Given the description of an element on the screen output the (x, y) to click on. 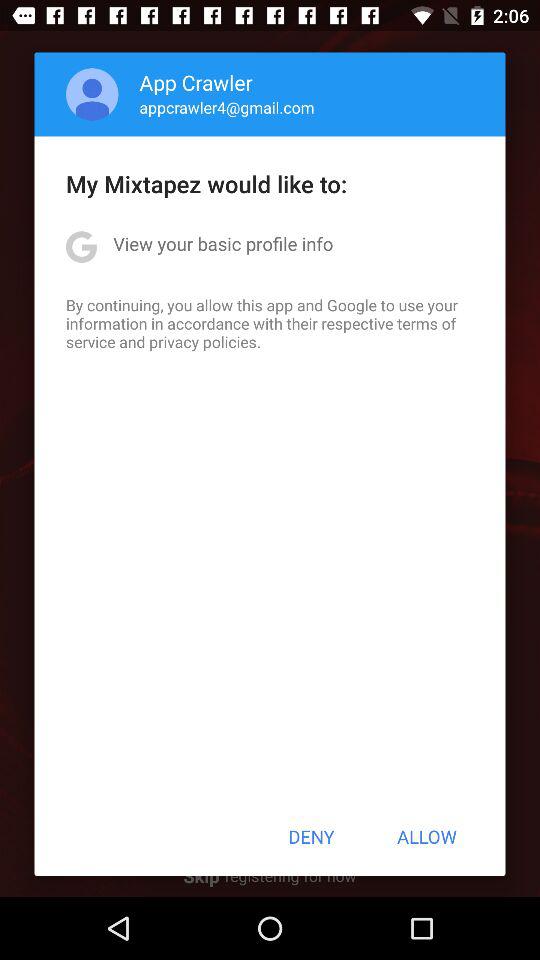
launch the icon above the appcrawler4@gmail.com item (195, 82)
